Given the description of an element on the screen output the (x, y) to click on. 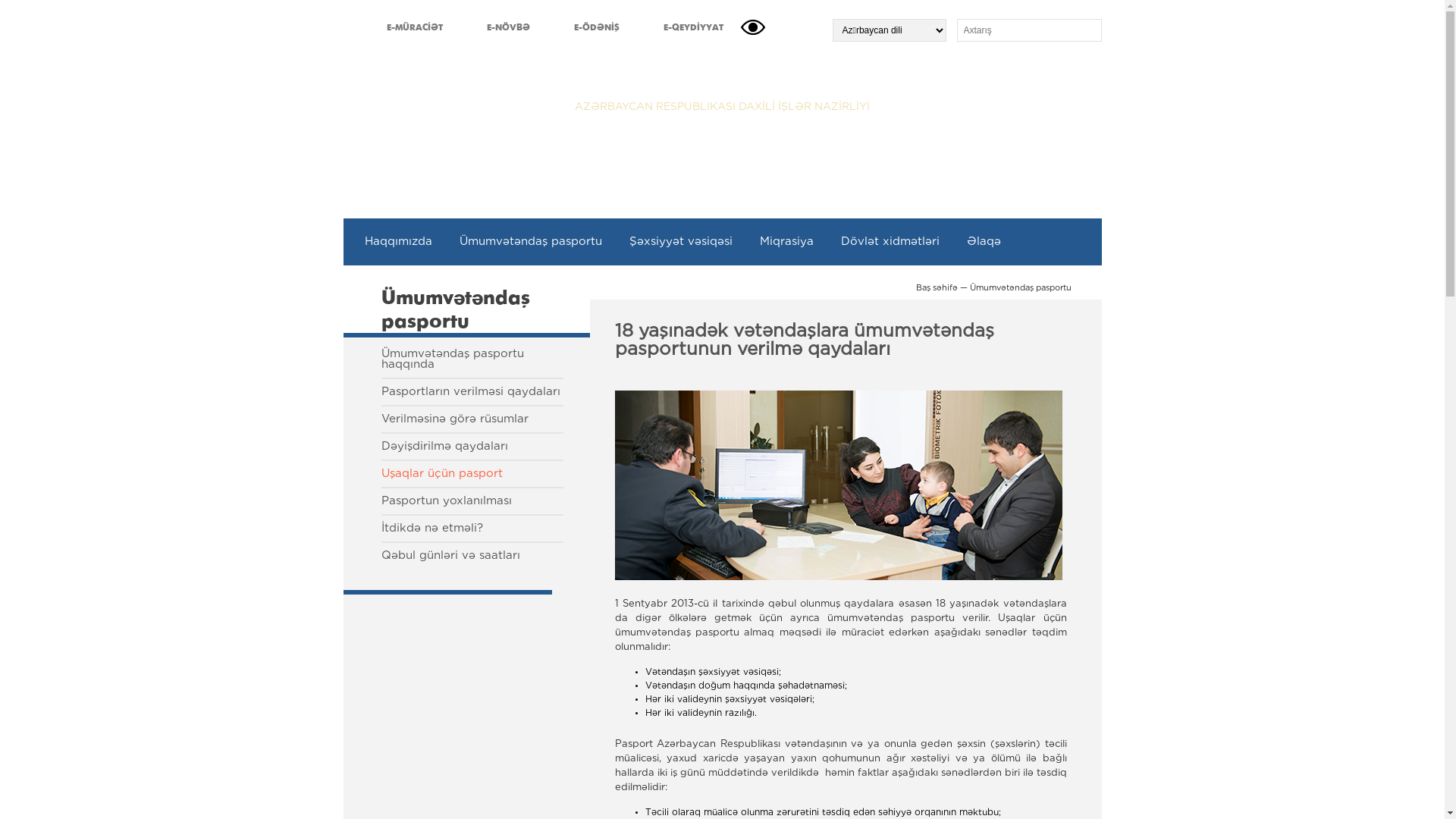
Miqrasiya Element type: text (786, 241)
